Given the description of an element on the screen output the (x, y) to click on. 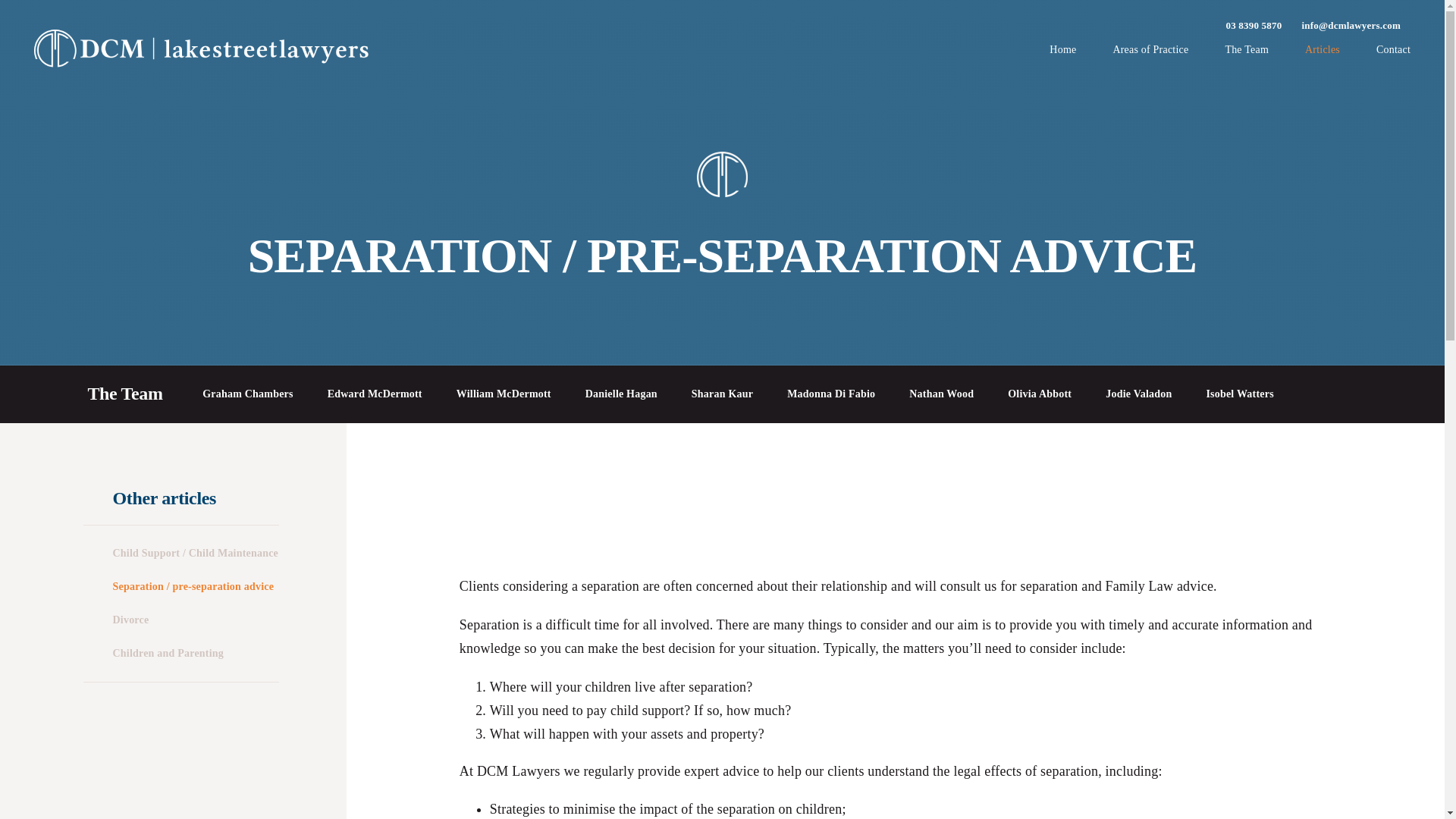
03 8390 5870 (1253, 25)
Contact (1392, 54)
Home (1062, 54)
Areas of Practice (1150, 54)
Articles (1321, 54)
The Team (1246, 54)
